Given the description of an element on the screen output the (x, y) to click on. 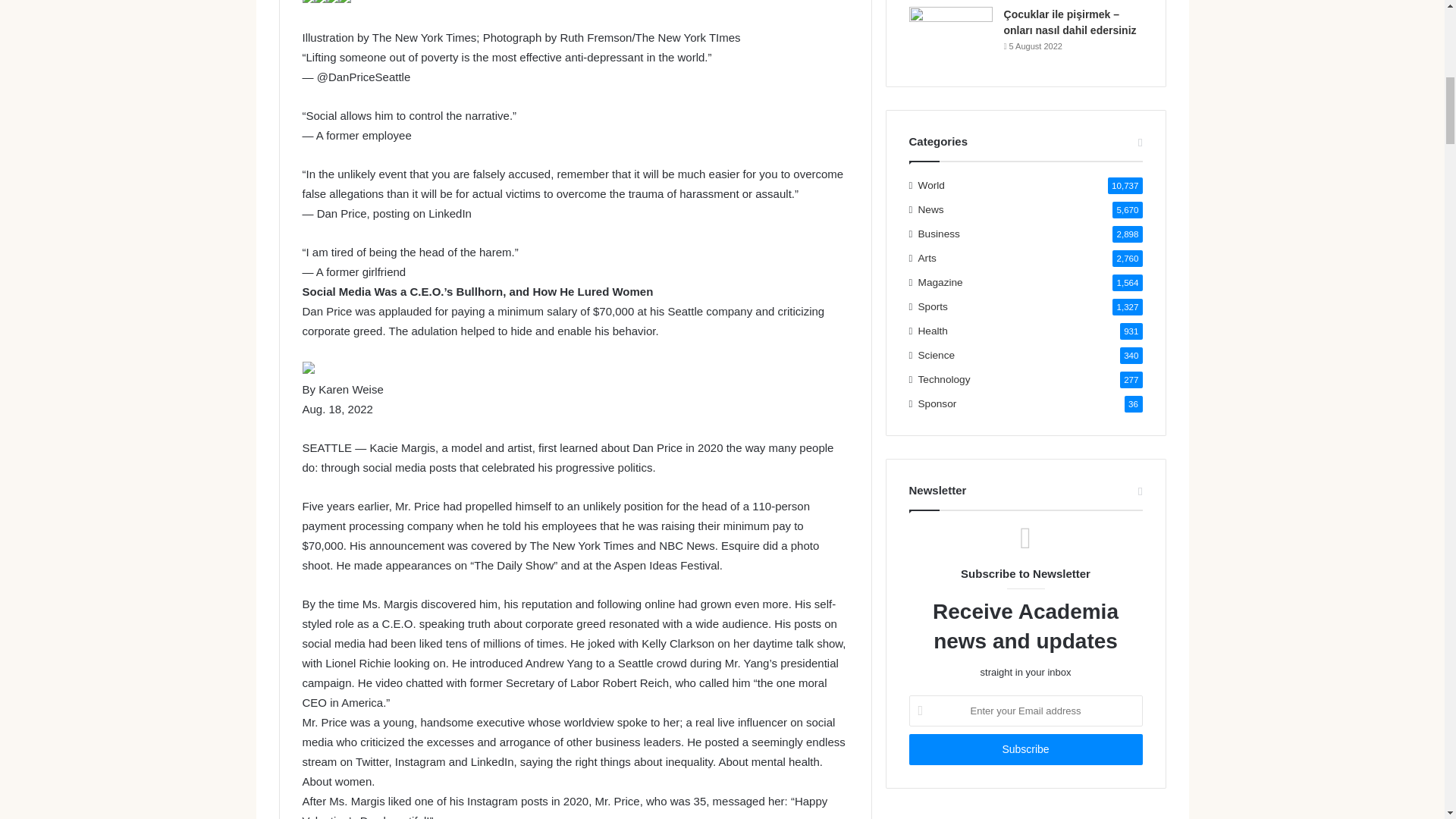
Subscribe (1025, 748)
